Given the description of an element on the screen output the (x, y) to click on. 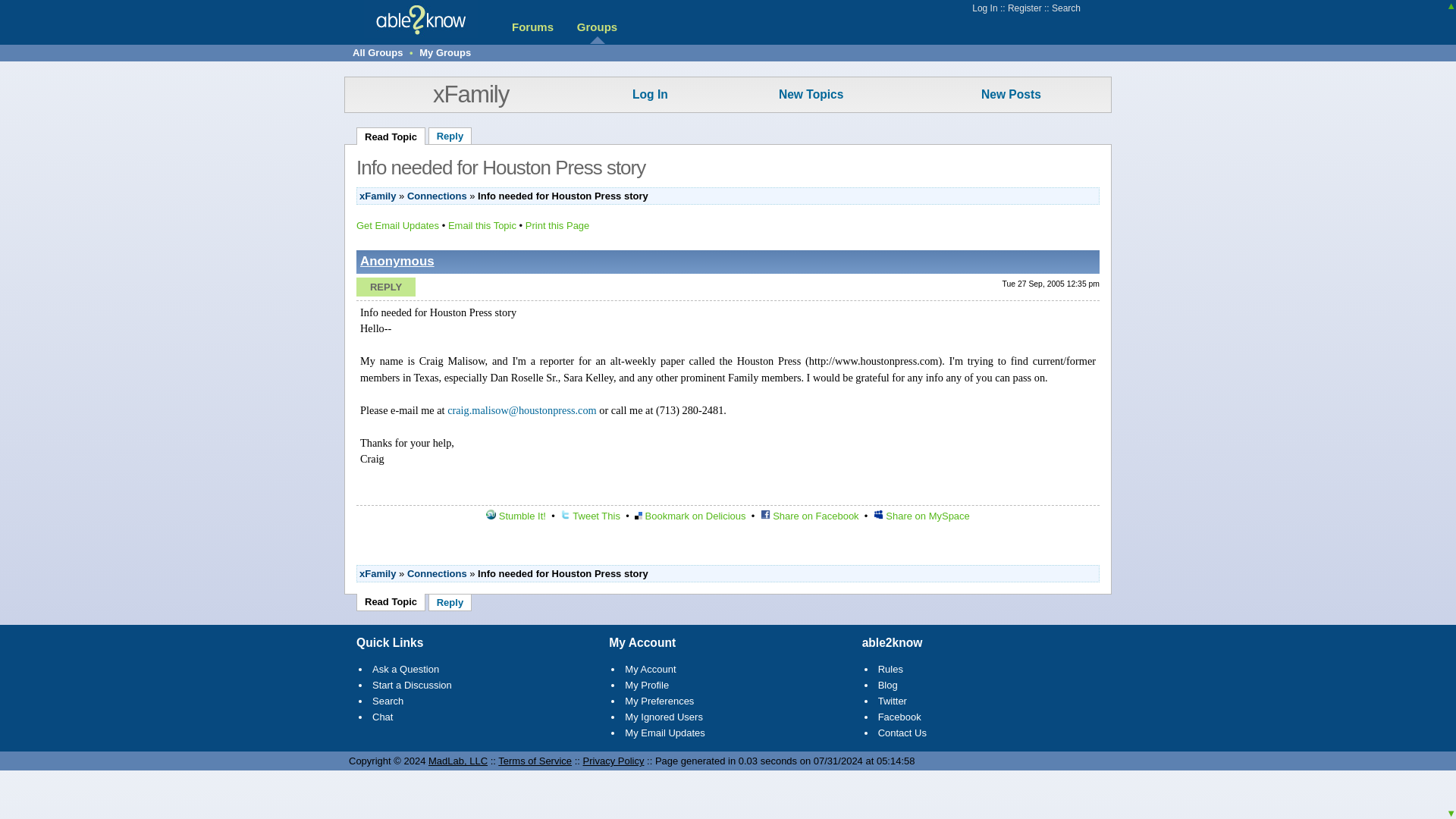
Groups (596, 26)
Print this Page (557, 225)
Reply (385, 286)
All Groups (377, 52)
Bookmark on Delicious (689, 515)
Start a Discussion (411, 685)
Chat (382, 716)
My Ignored Users (663, 716)
My Account (649, 668)
Reply (449, 602)
xFamily (470, 94)
xFamily (377, 573)
New Posts (1011, 93)
Forums (532, 26)
View Profile (396, 260)
